Given the description of an element on the screen output the (x, y) to click on. 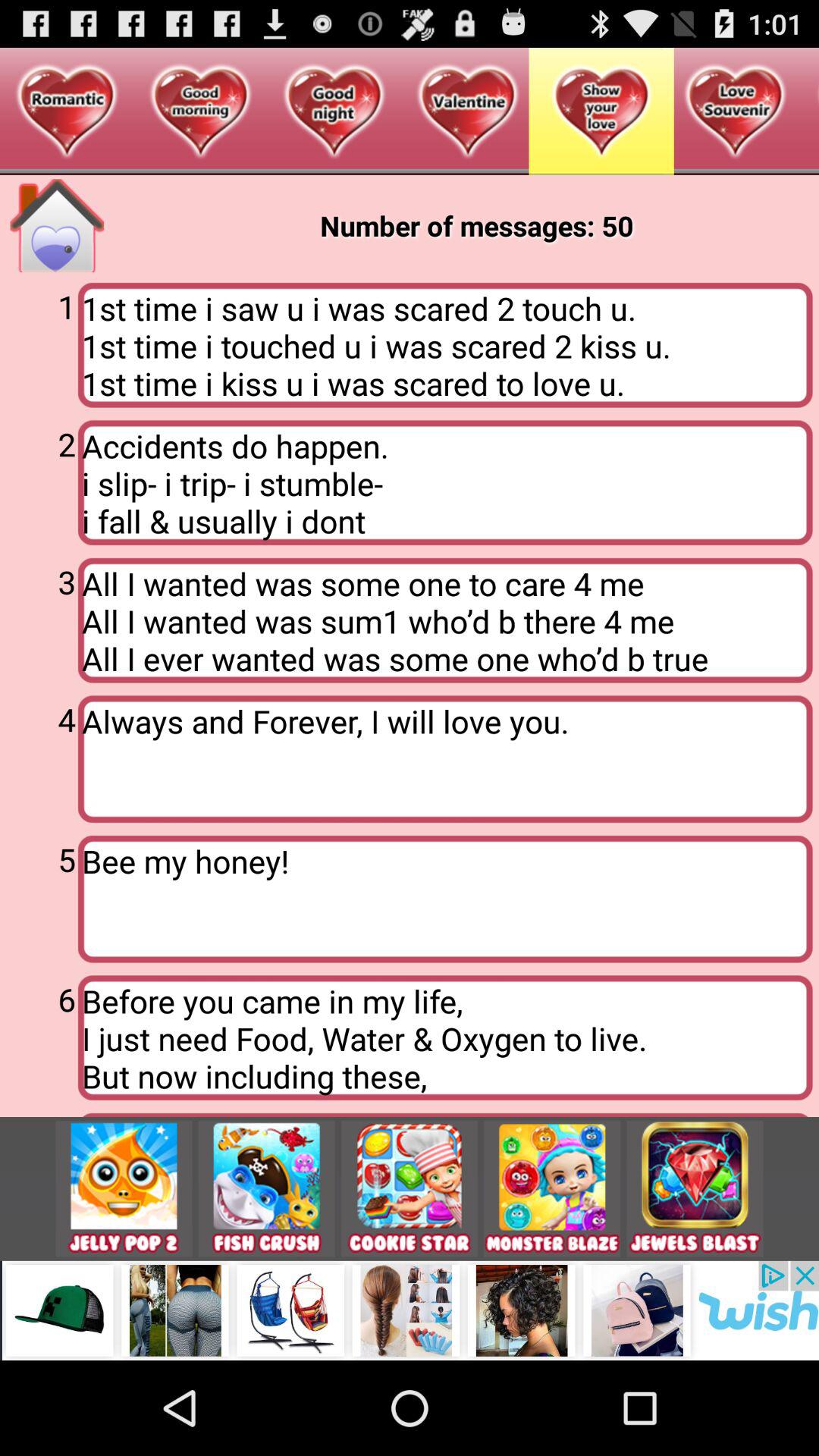
home (57, 225)
